Given the description of an element on the screen output the (x, y) to click on. 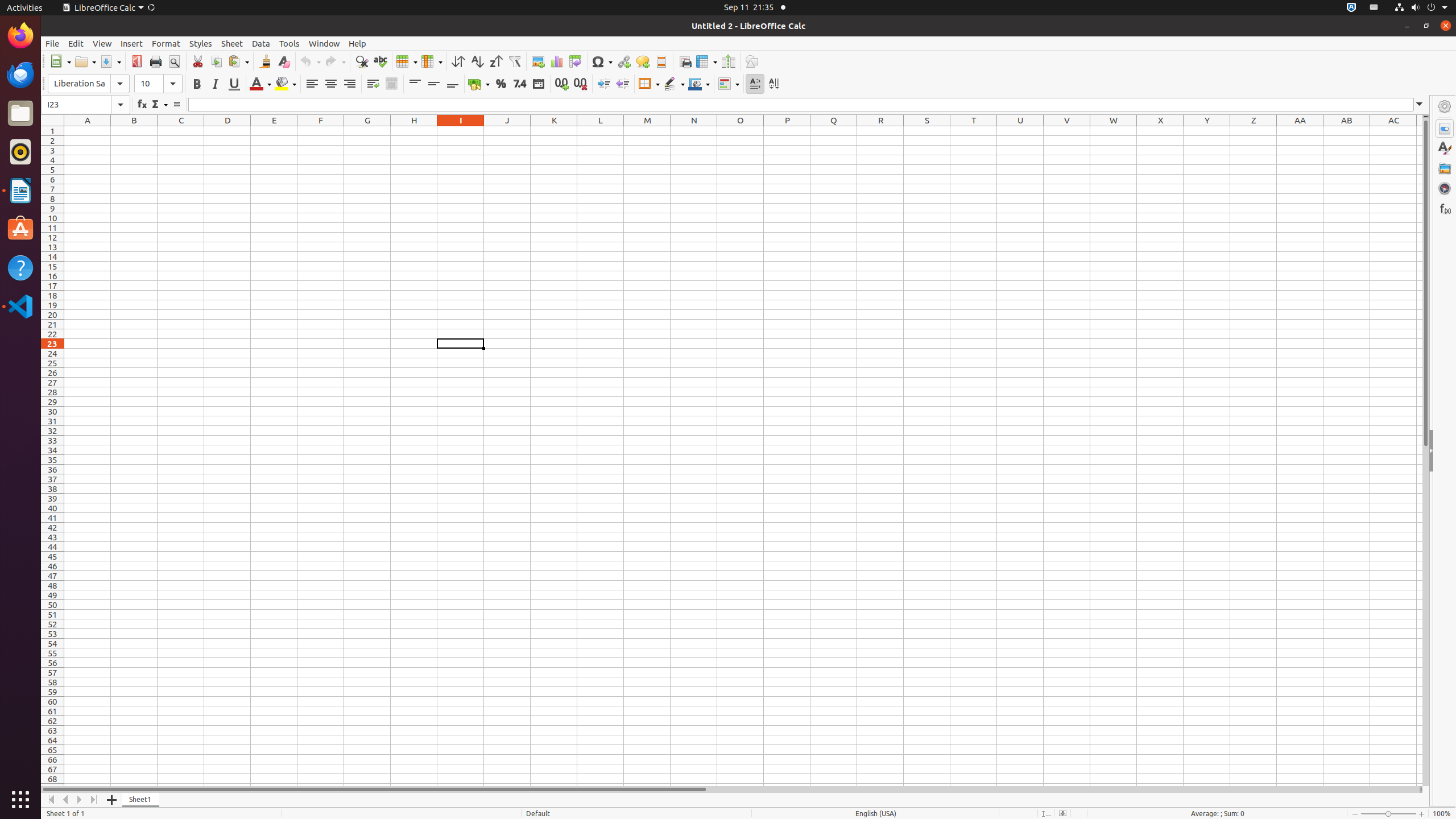
T1 Element type: table-cell (973, 130)
Print Area Element type: push-button (684, 61)
D1 Element type: table-cell (227, 130)
Row Element type: push-button (406, 61)
PDF Element type: push-button (136, 61)
